Given the description of an element on the screen output the (x, y) to click on. 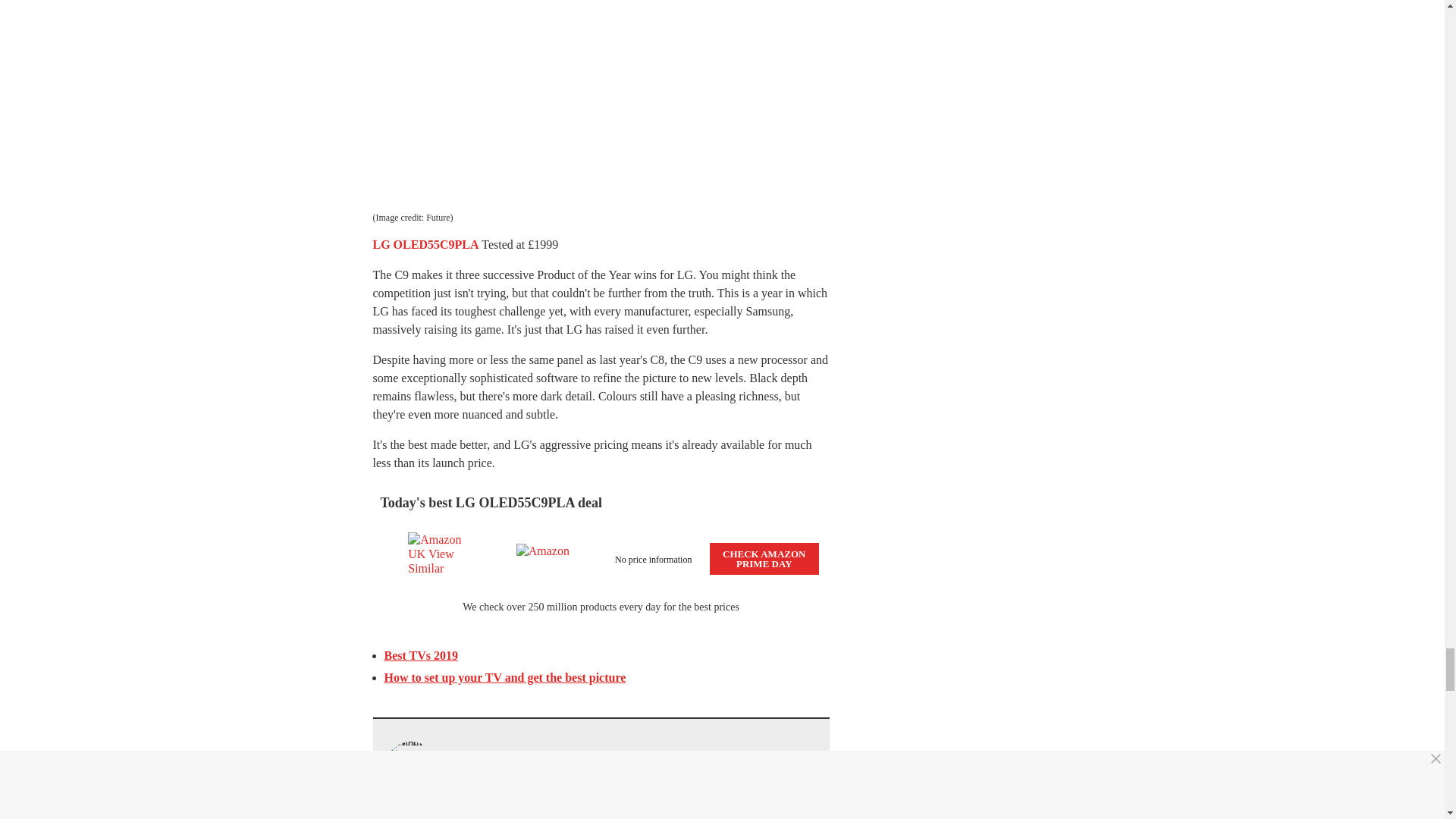
Amazon (546, 558)
Amazon UK View Similar (437, 558)
